Given the description of an element on the screen output the (x, y) to click on. 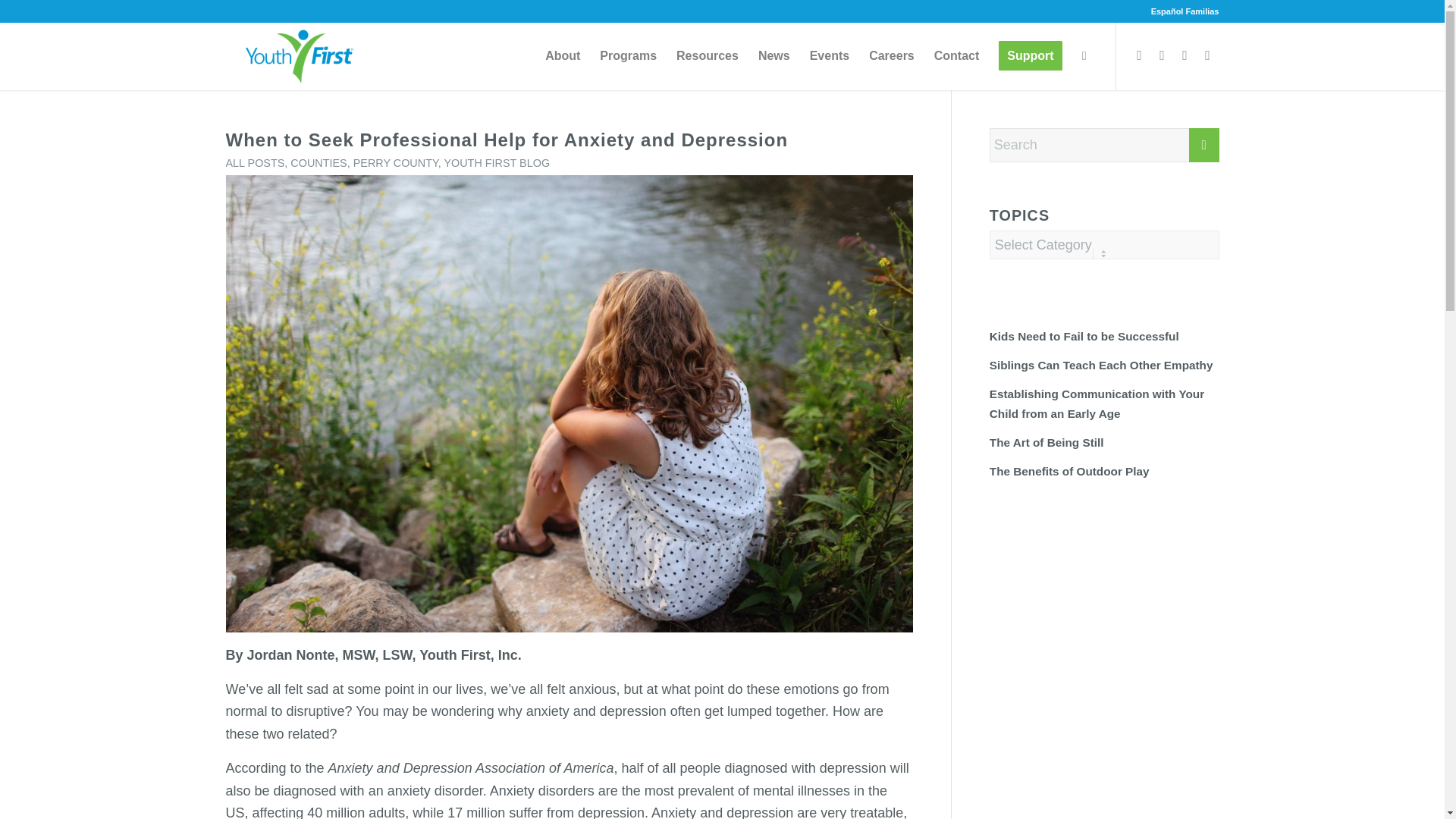
Youtube (1208, 55)
Facebook (1139, 55)
Instagram (1184, 55)
Programs (627, 56)
X (1162, 55)
